Given the description of an element on the screen output the (x, y) to click on. 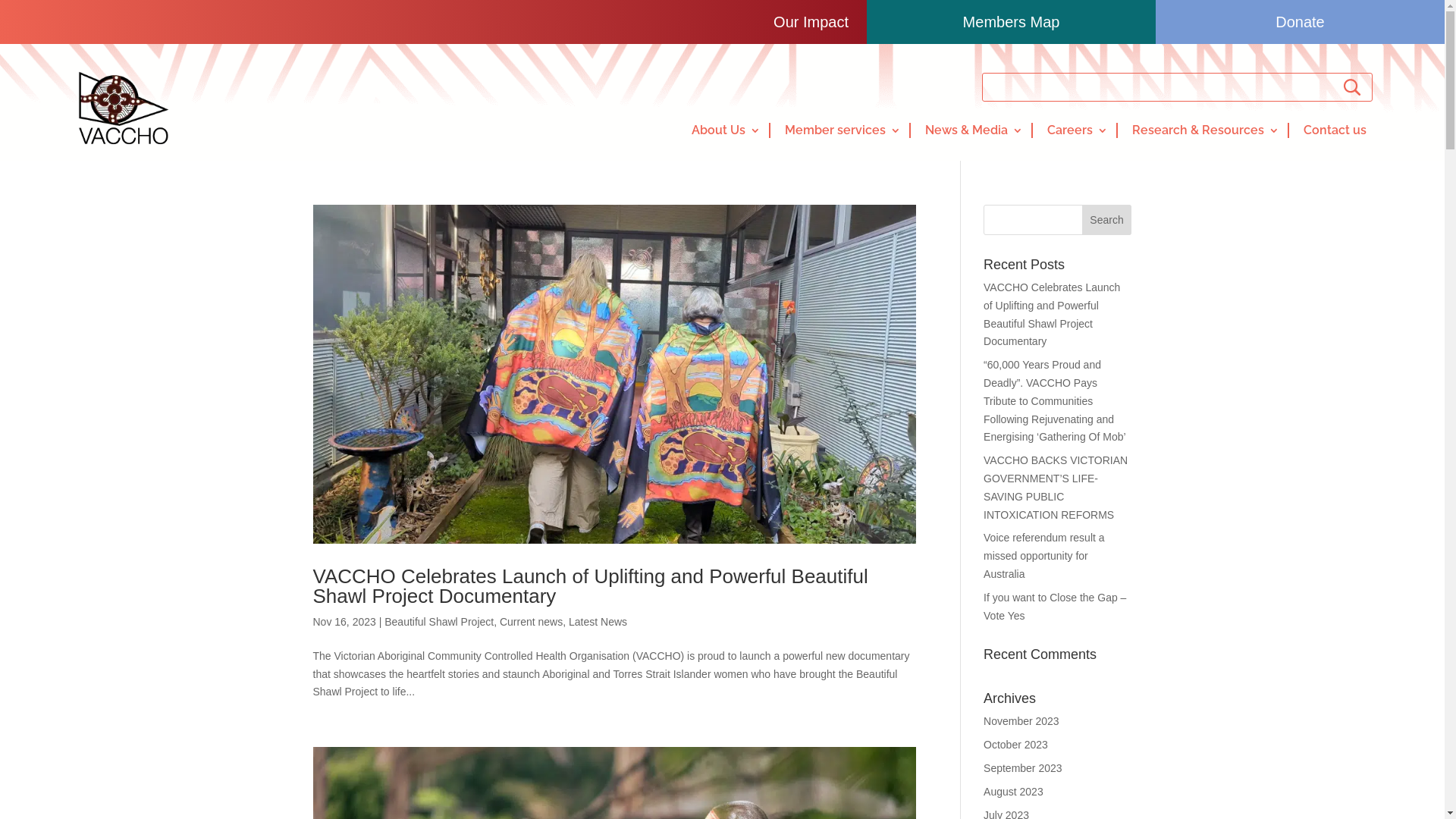
Latest News Element type: text (597, 621)
Voice referendum result a missed opportunity for Australia   Element type: text (1043, 555)
October 2023 Element type: text (1015, 744)
About Us Element type: text (722, 130)
News & Media Element type: text (970, 130)
Member services Element type: text (839, 130)
Contact us Element type: text (1334, 130)
Beautiful Shawl Project Element type: text (438, 621)
September 2023 Element type: text (1022, 768)
Members Map Element type: text (1010, 21)
Careers Element type: text (1074, 130)
Our Impact Element type: text (433, 21)
August 2023 Element type: text (1013, 791)
Current news Element type: text (530, 621)
Search Element type: text (1107, 219)
November 2023 Element type: text (1021, 721)
Research & Resources Element type: text (1202, 130)
Donate Element type: text (1299, 21)
